Given the description of an element on the screen output the (x, y) to click on. 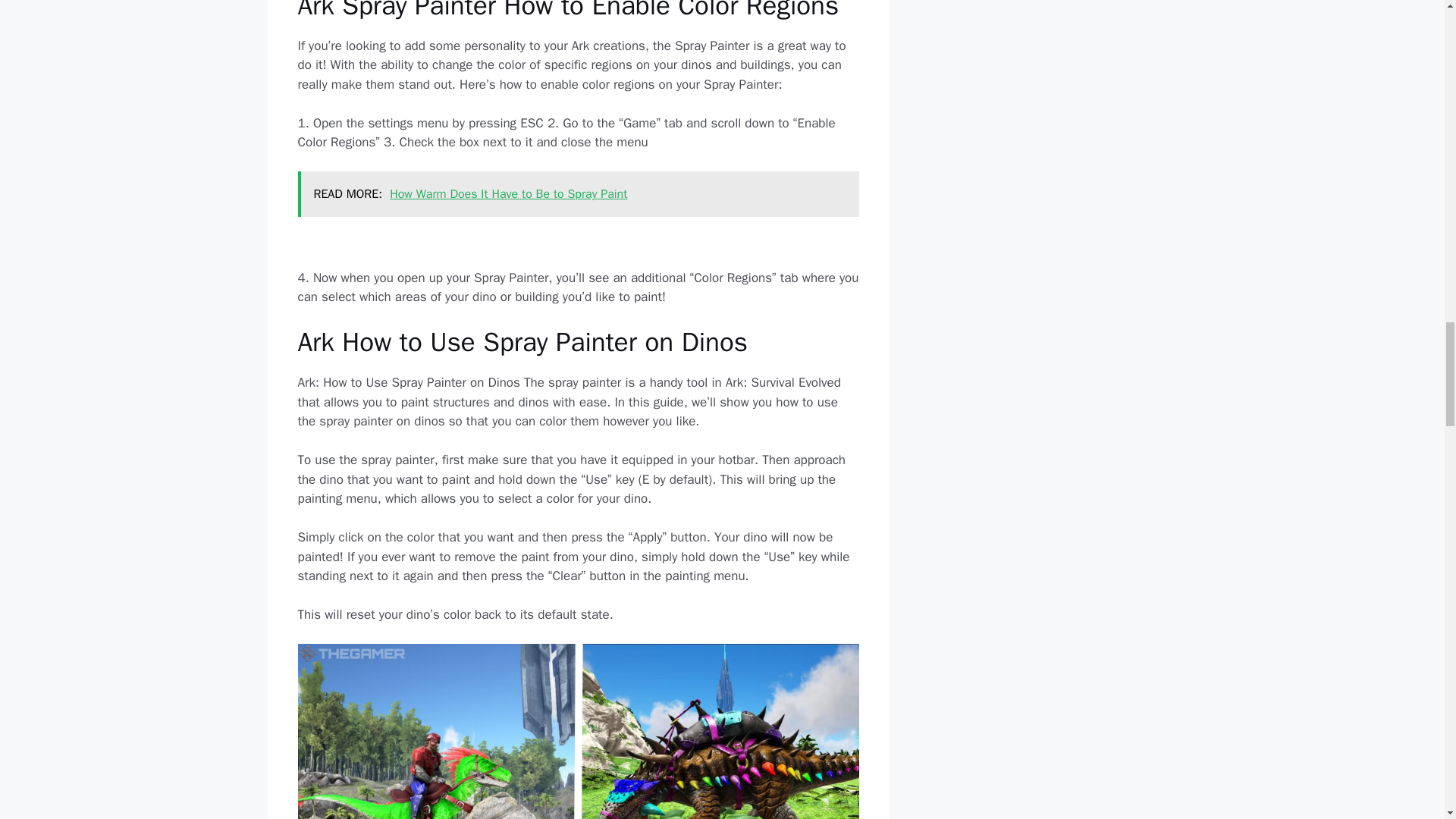
READ MORE:  How Warm Does It Have to Be to Spray Paint (578, 194)
